Given the description of an element on the screen output the (x, y) to click on. 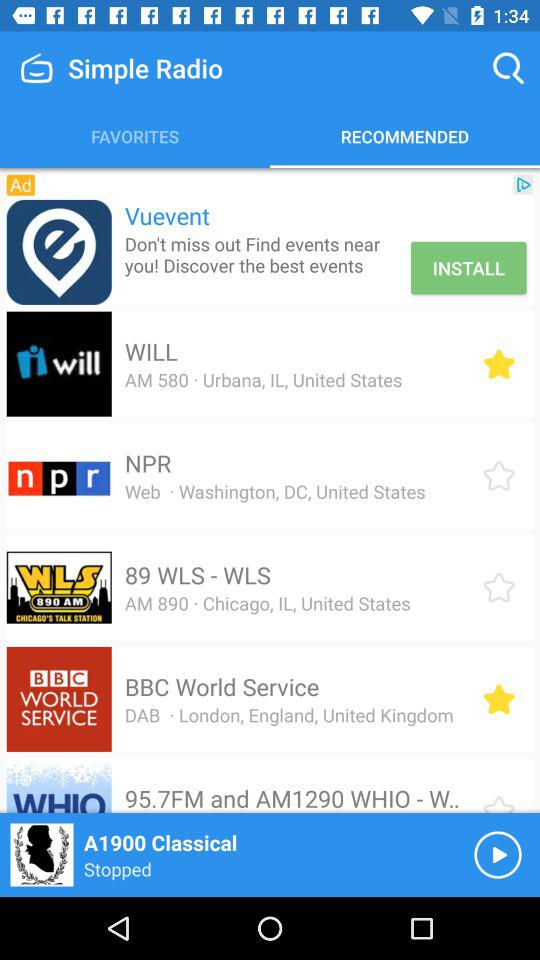
tap the item to the left of vuevent (20, 184)
